Given the description of an element on the screen output the (x, y) to click on. 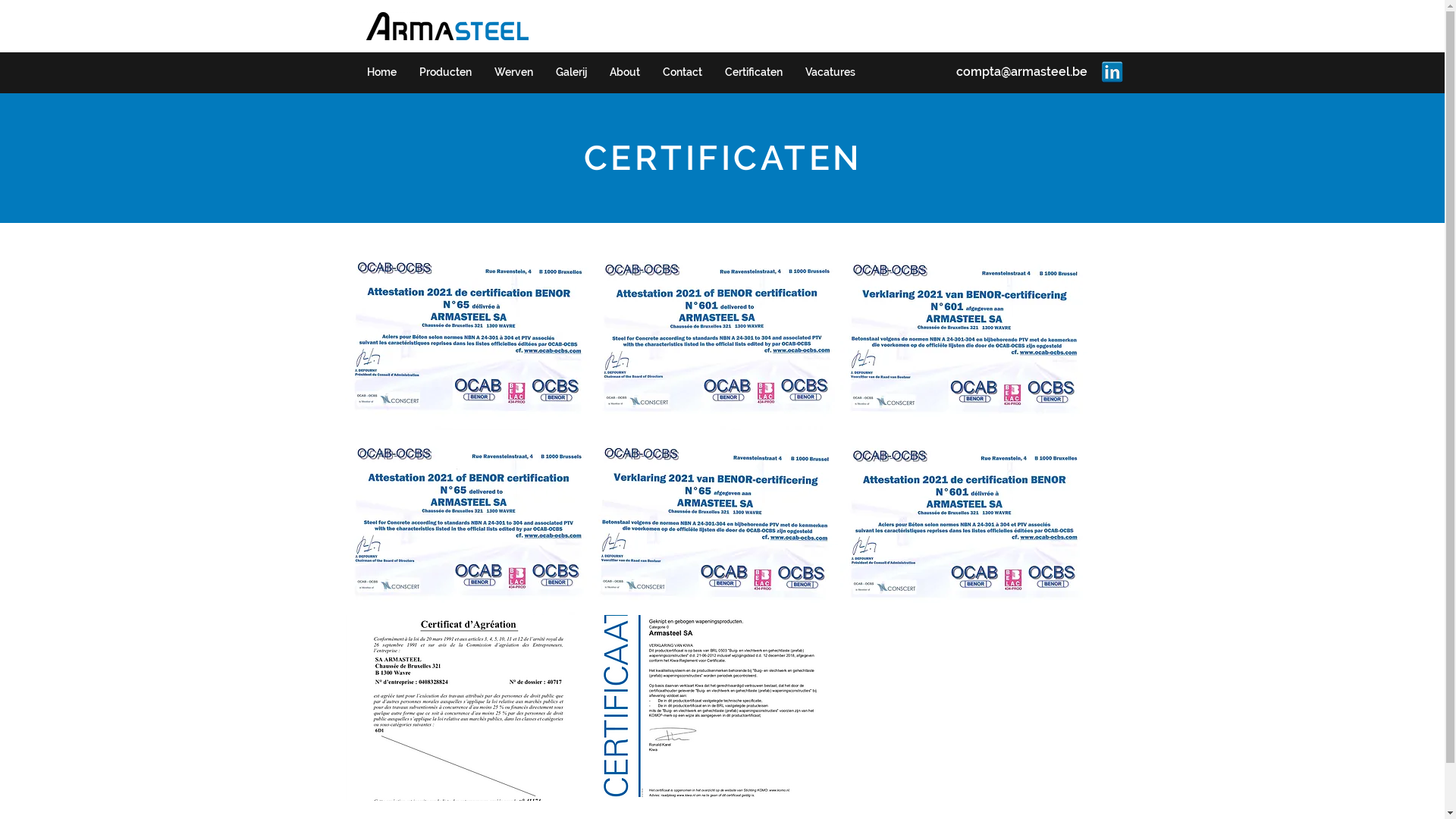
Werven Element type: text (512, 71)
About Element type: text (623, 71)
Producten Element type: text (445, 71)
Certificaten Element type: text (752, 71)
Vacatures Element type: text (829, 71)
Contact Element type: text (681, 71)
compta@armasteel.be Element type: text (1020, 71)
Home Element type: text (380, 71)
Galerij Element type: text (571, 71)
